Given the description of an element on the screen output the (x, y) to click on. 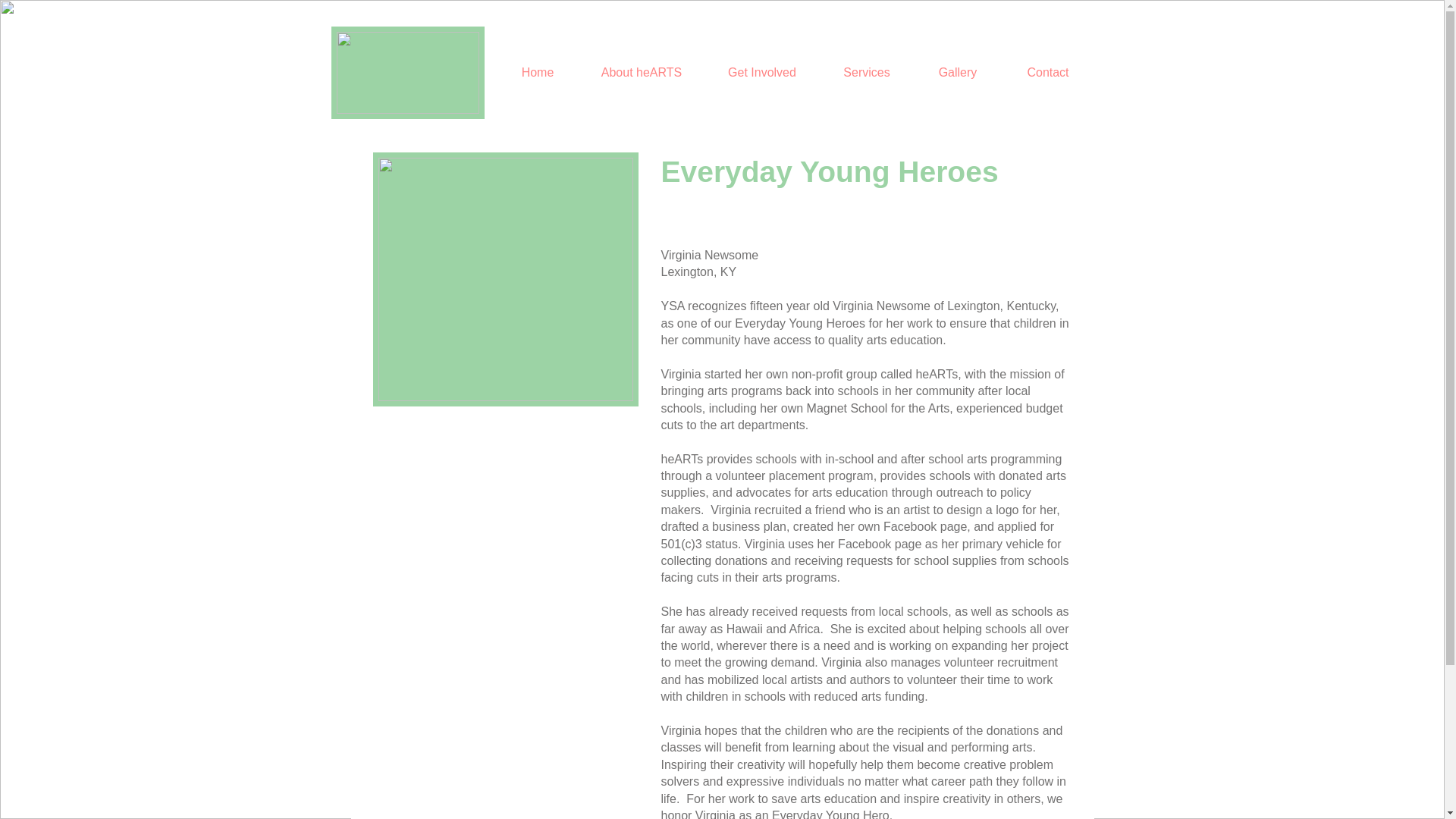
Home (537, 71)
Services (865, 71)
About heARTS (640, 71)
Contact (1047, 71)
Get Involved (760, 71)
Gallery (956, 71)
